Given the description of an element on the screen output the (x, y) to click on. 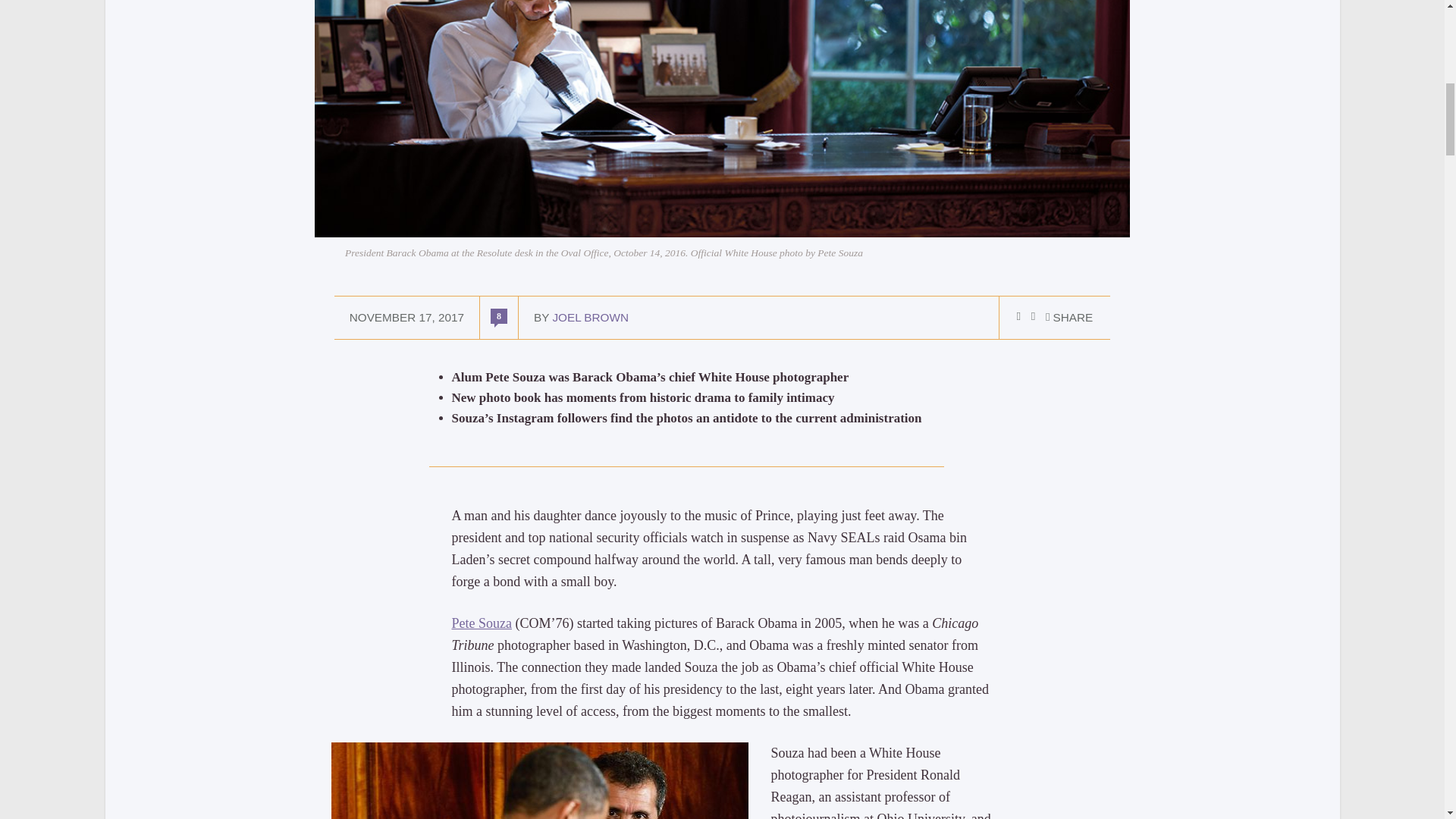
JOEL BROWN (589, 317)
8 (498, 315)
Pete Souza (481, 622)
